Given the description of an element on the screen output the (x, y) to click on. 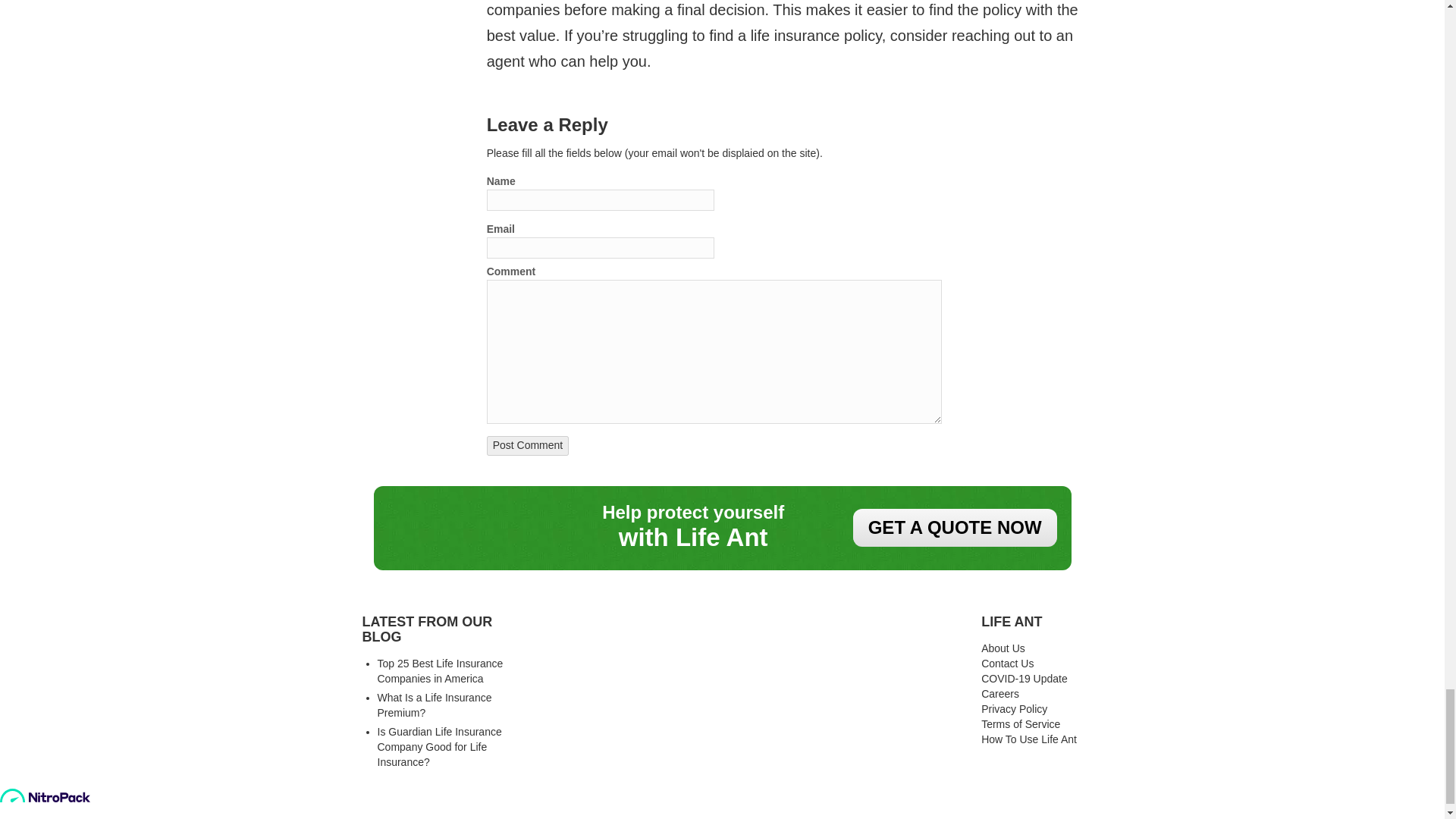
Permalink to Top 25 Best Life Insurance Companies in America (440, 670)
Permalink to What Is a Life Insurance Premium? (434, 705)
Post Comment (527, 445)
